Given the description of an element on the screen output the (x, y) to click on. 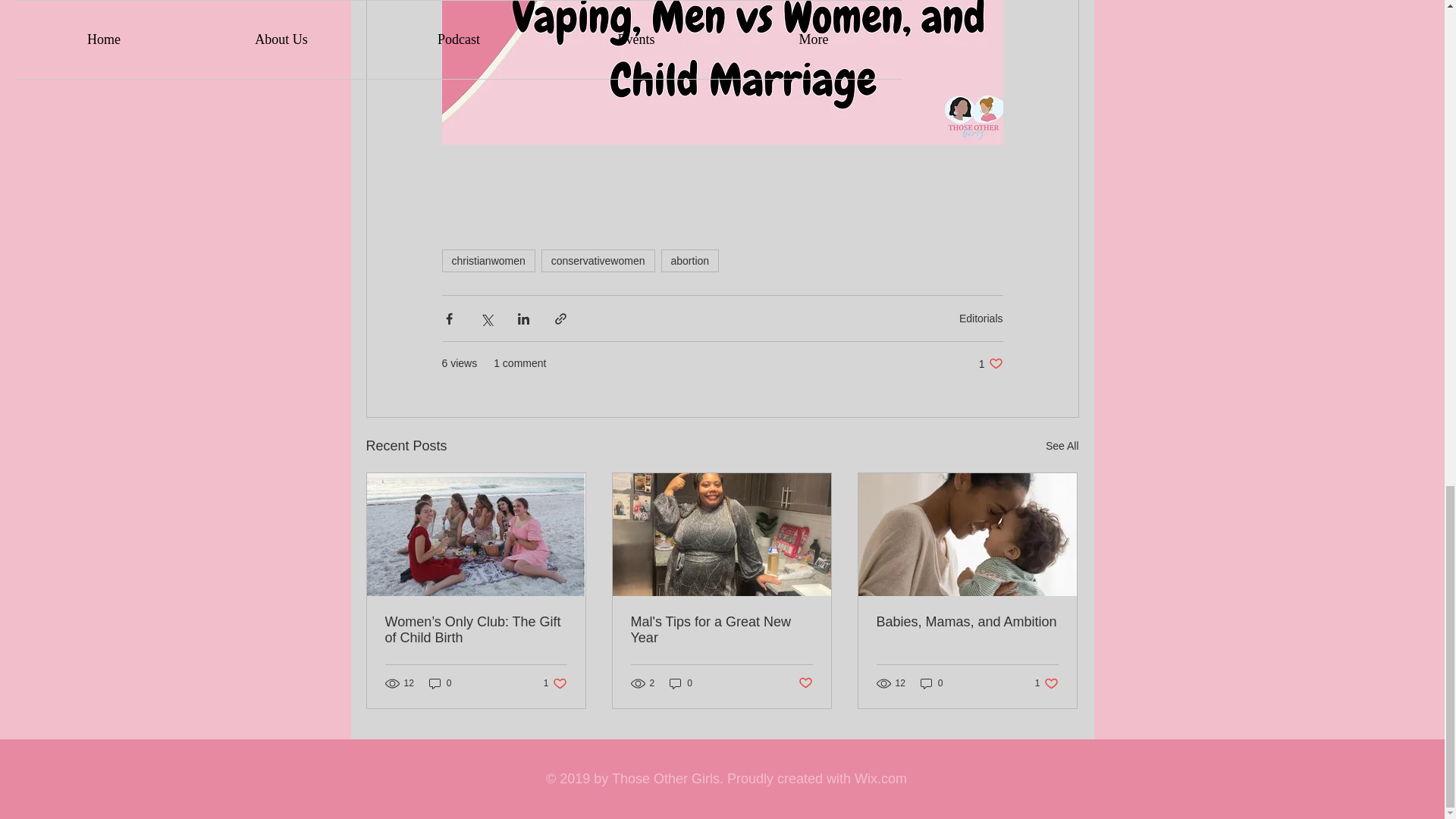
conservativewomen (598, 260)
christianwomen (487, 260)
Editorials (981, 318)
See All (990, 363)
abortion (1061, 445)
